Given the description of an element on the screen output the (x, y) to click on. 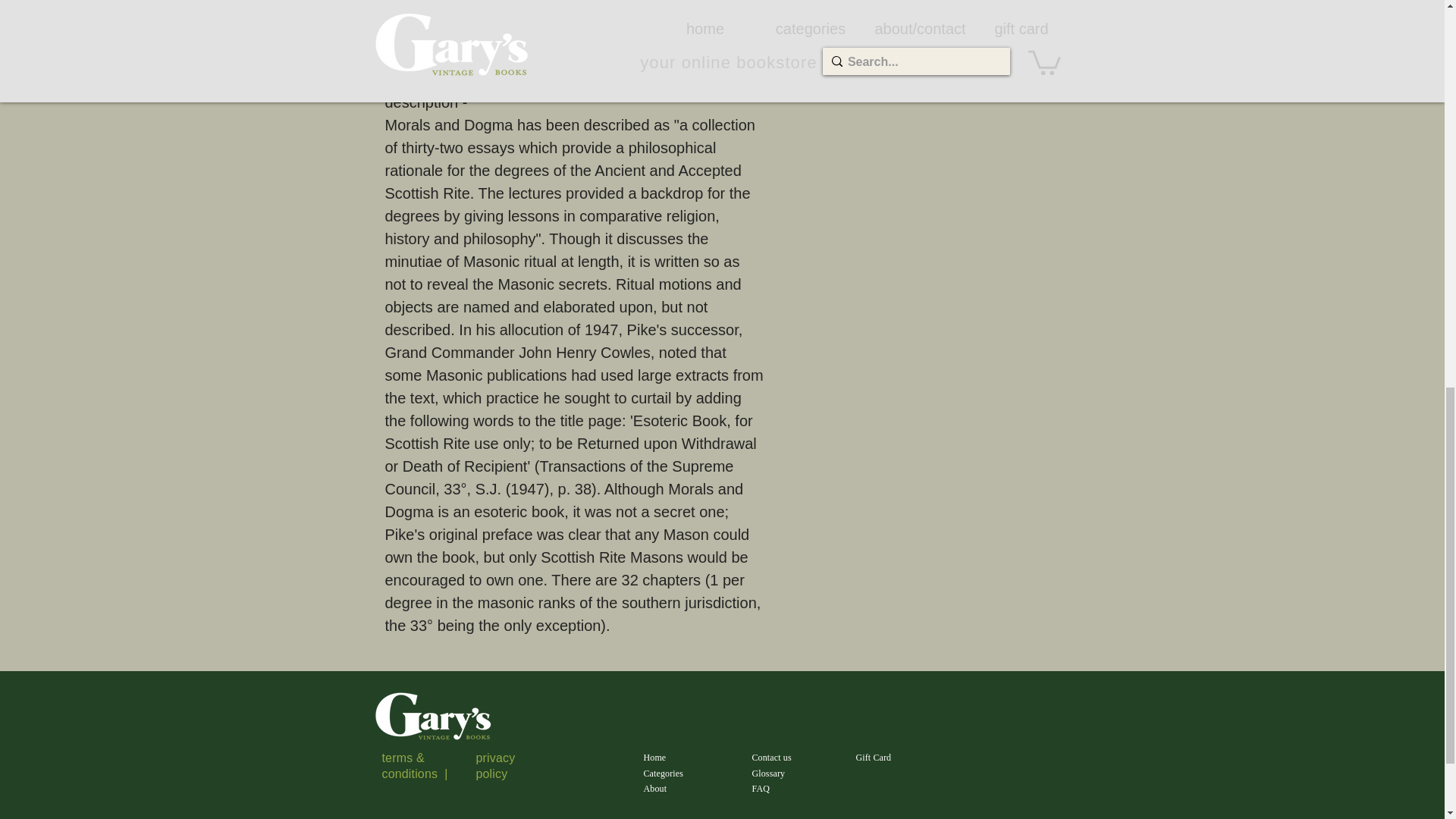
Glossary (769, 773)
privacy policy (495, 765)
FAQ (761, 787)
Home (654, 757)
Categories (662, 773)
About (654, 787)
Gift Card (873, 757)
Contact us (772, 757)
